Given the description of an element on the screen output the (x, y) to click on. 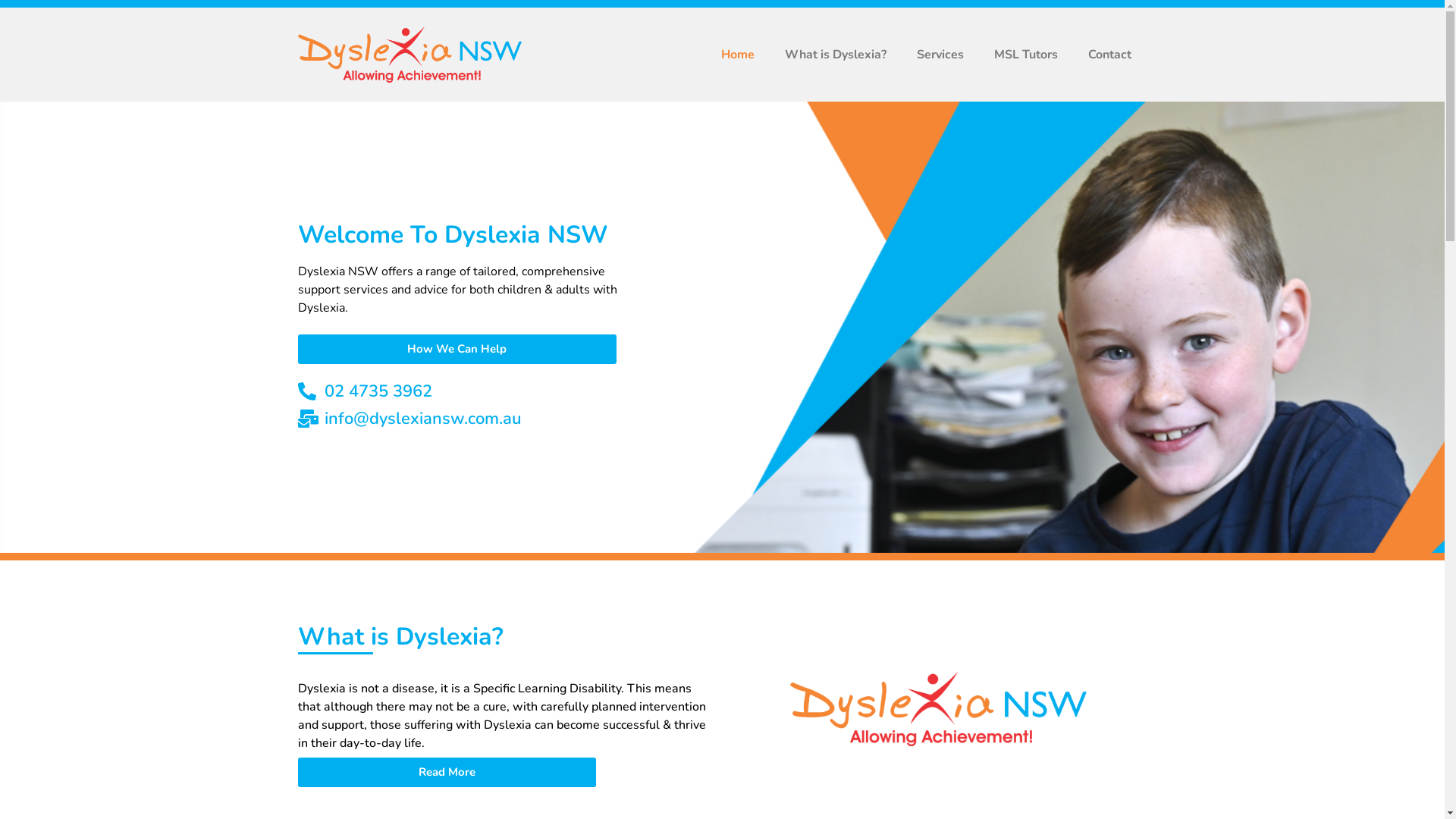
info@dyslexiansw.com.au Element type: text (471, 418)
Home Element type: text (737, 54)
Services Element type: text (940, 54)
Read More Element type: text (446, 772)
MSL Tutors Element type: text (1026, 54)
How We Can Help Element type: text (456, 349)
What is Dyslexia? Element type: text (835, 54)
Contact Element type: text (1109, 54)
02 4735 3962 Element type: text (471, 391)
